Given the description of an element on the screen output the (x, y) to click on. 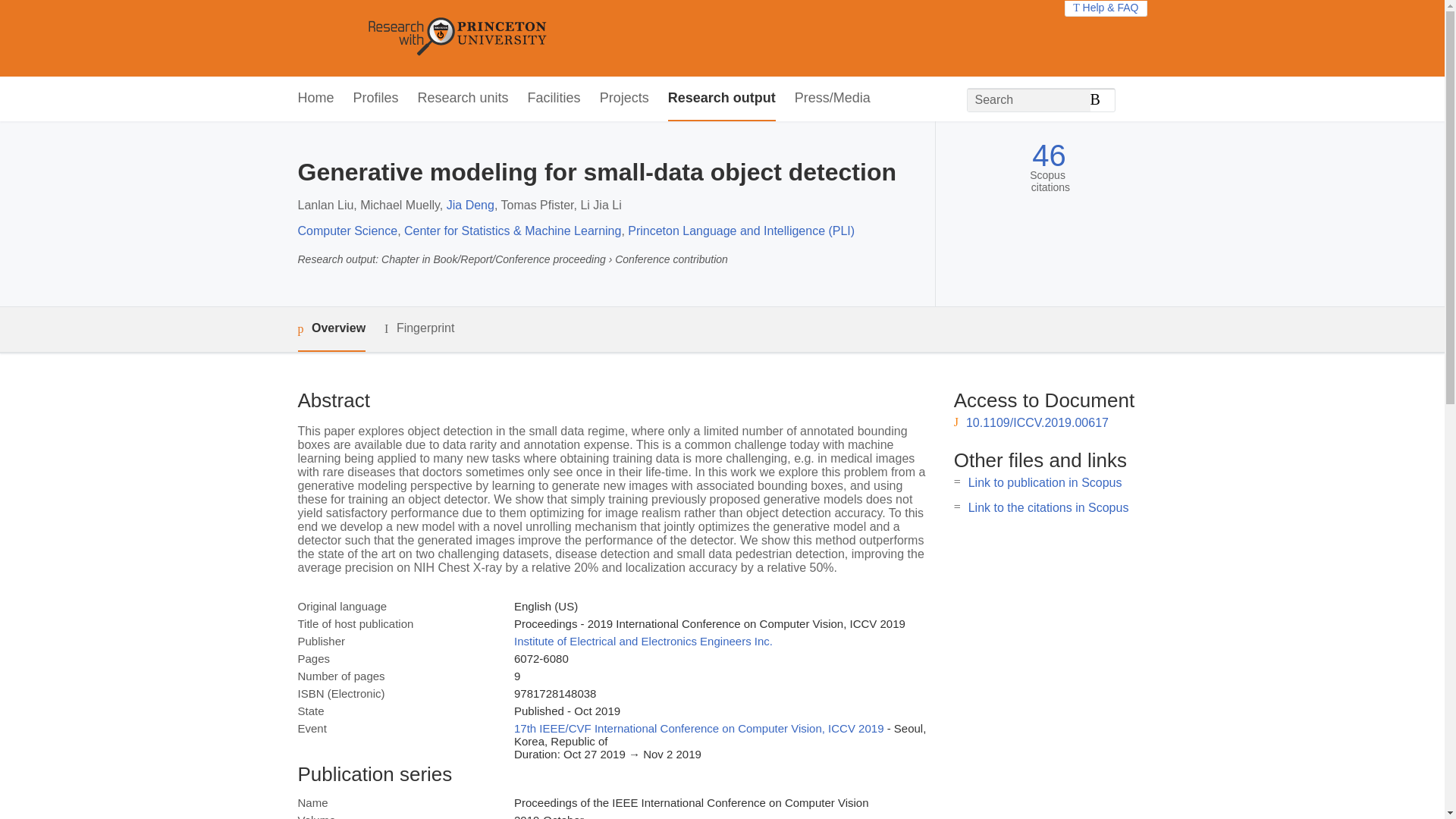
Link to the citations in Scopus (1048, 507)
Profiles (375, 98)
Institute of Electrical and Electronics Engineers Inc. (643, 640)
Research units (462, 98)
Research output (722, 98)
Overview (331, 329)
Princeton University Home (567, 38)
Facilities (553, 98)
Computer Science (347, 230)
Projects (624, 98)
